Given the description of an element on the screen output the (x, y) to click on. 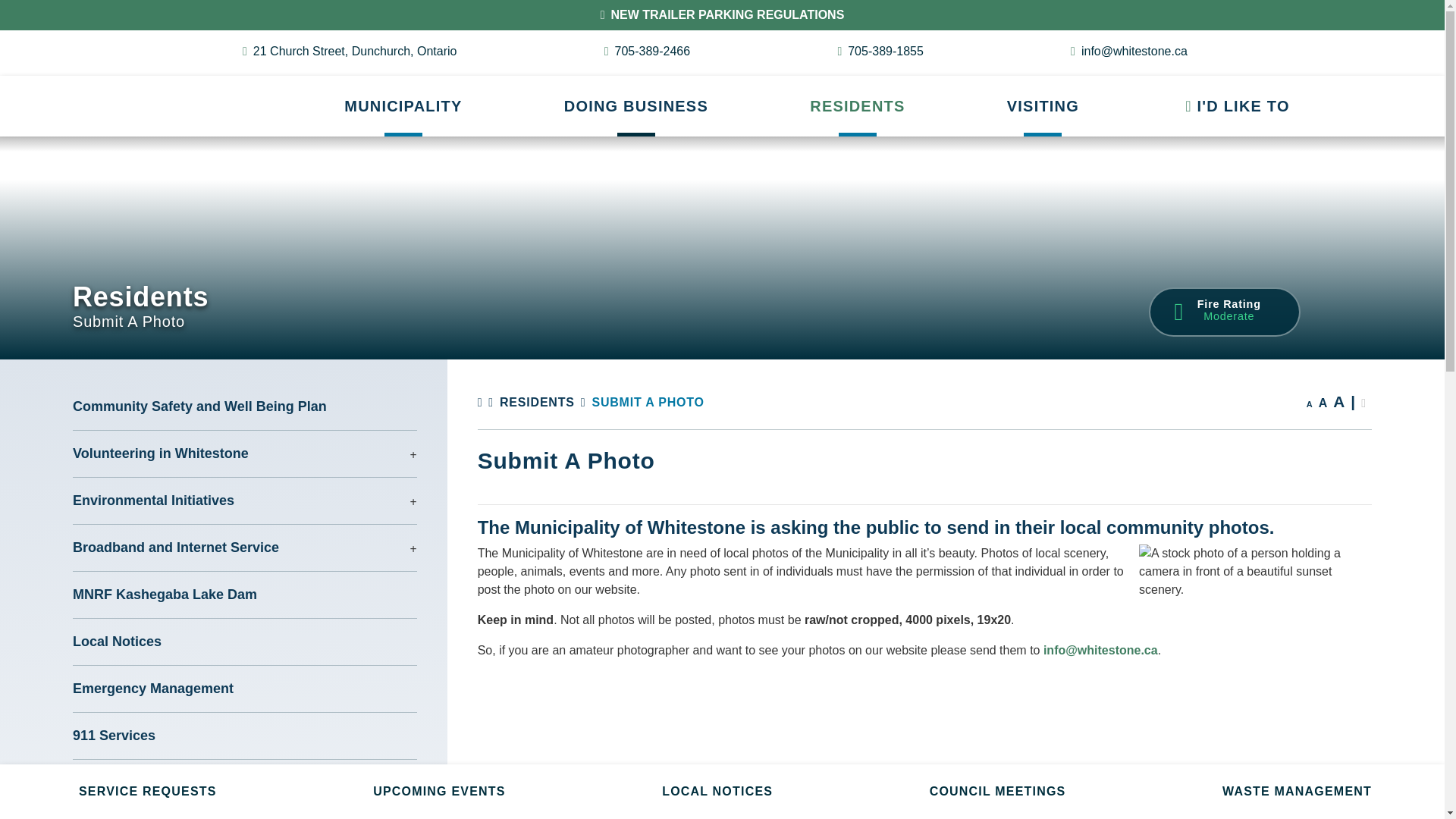
Click to view Municipality (402, 106)
Welcome to Municipality of Whitestone - Submit A Photo (141, 92)
21 Church Street, Dunchurch, Ontario (350, 51)
MUNICIPALITY (402, 106)
Municipality of Whitestone (141, 92)
705-389-2466 (647, 51)
705-389-1855 (880, 51)
